Given the description of an element on the screen output the (x, y) to click on. 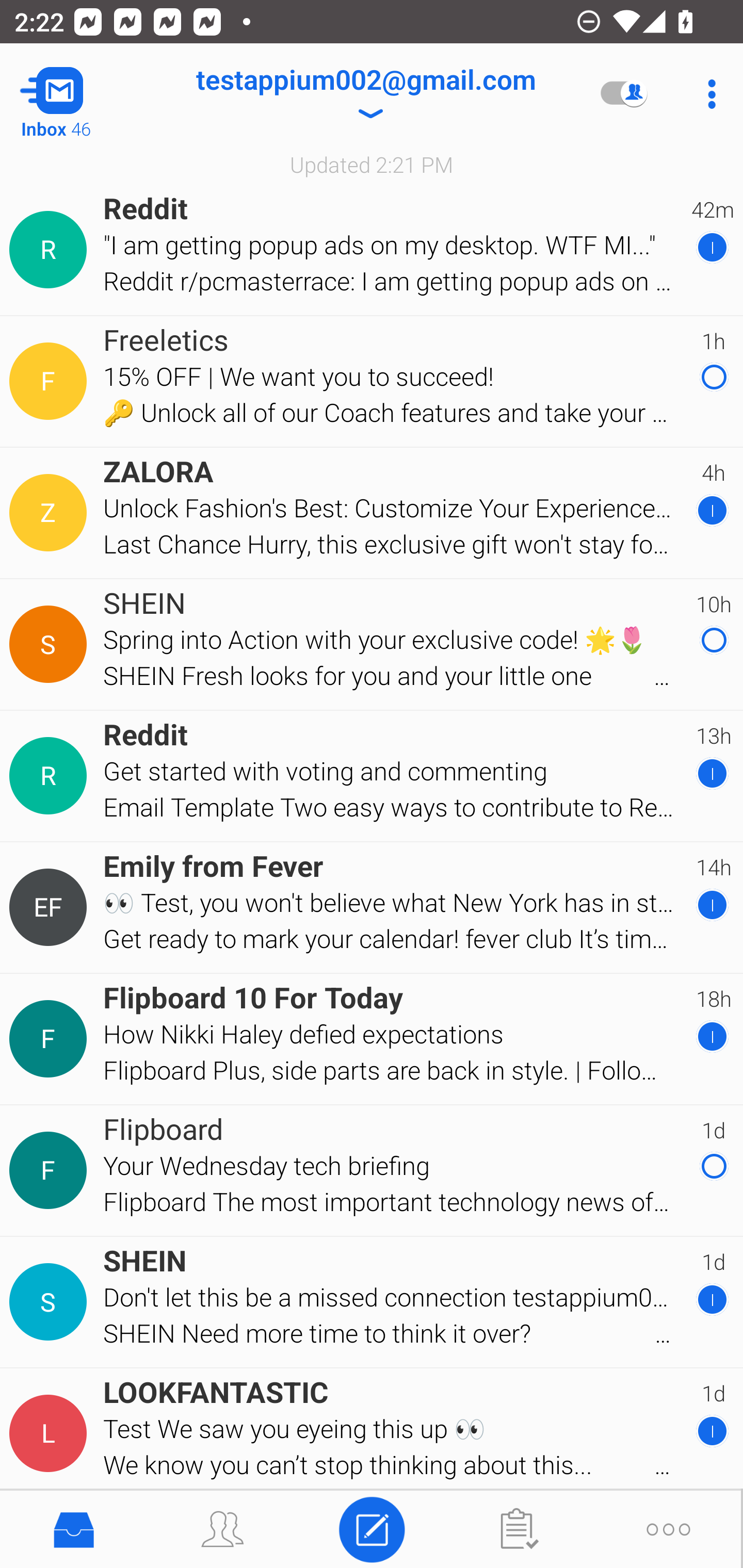
Navigate up (81, 93)
testappium002@gmail.com (365, 93)
More Options (706, 93)
Updated 2:21 PM (371, 164)
Contact Details (50, 250)
Contact Details (50, 381)
Contact Details (50, 513)
Contact Details (50, 644)
Contact Details (50, 776)
Contact Details (50, 907)
Contact Details (50, 1038)
Contact Details (50, 1170)
Contact Details (50, 1302)
Contact Details (50, 1433)
Compose (371, 1528)
